Given the description of an element on the screen output the (x, y) to click on. 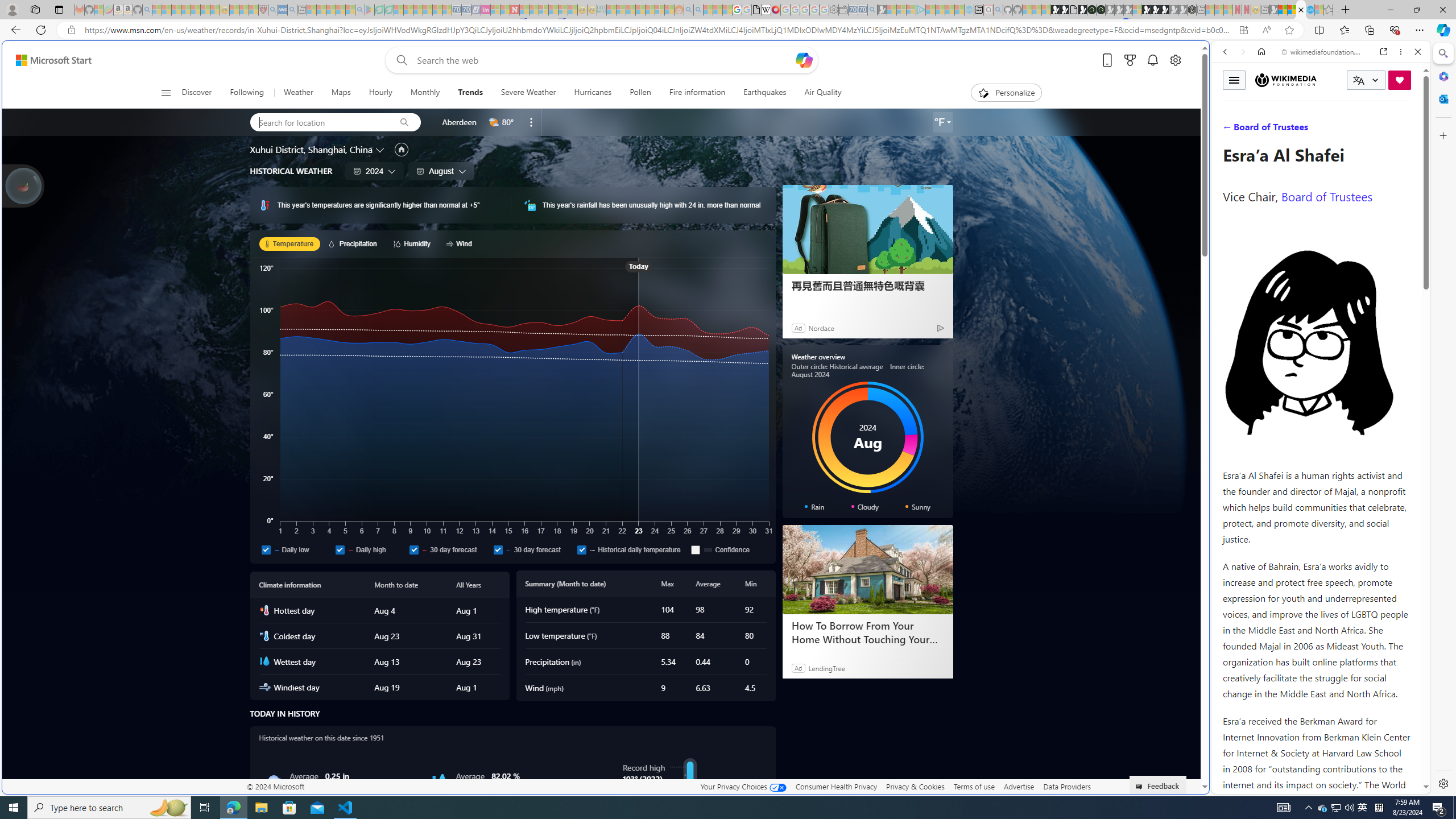
MSN - Sleeping (1272, 9)
Change location (381, 149)
